Given the description of an element on the screen output the (x, y) to click on. 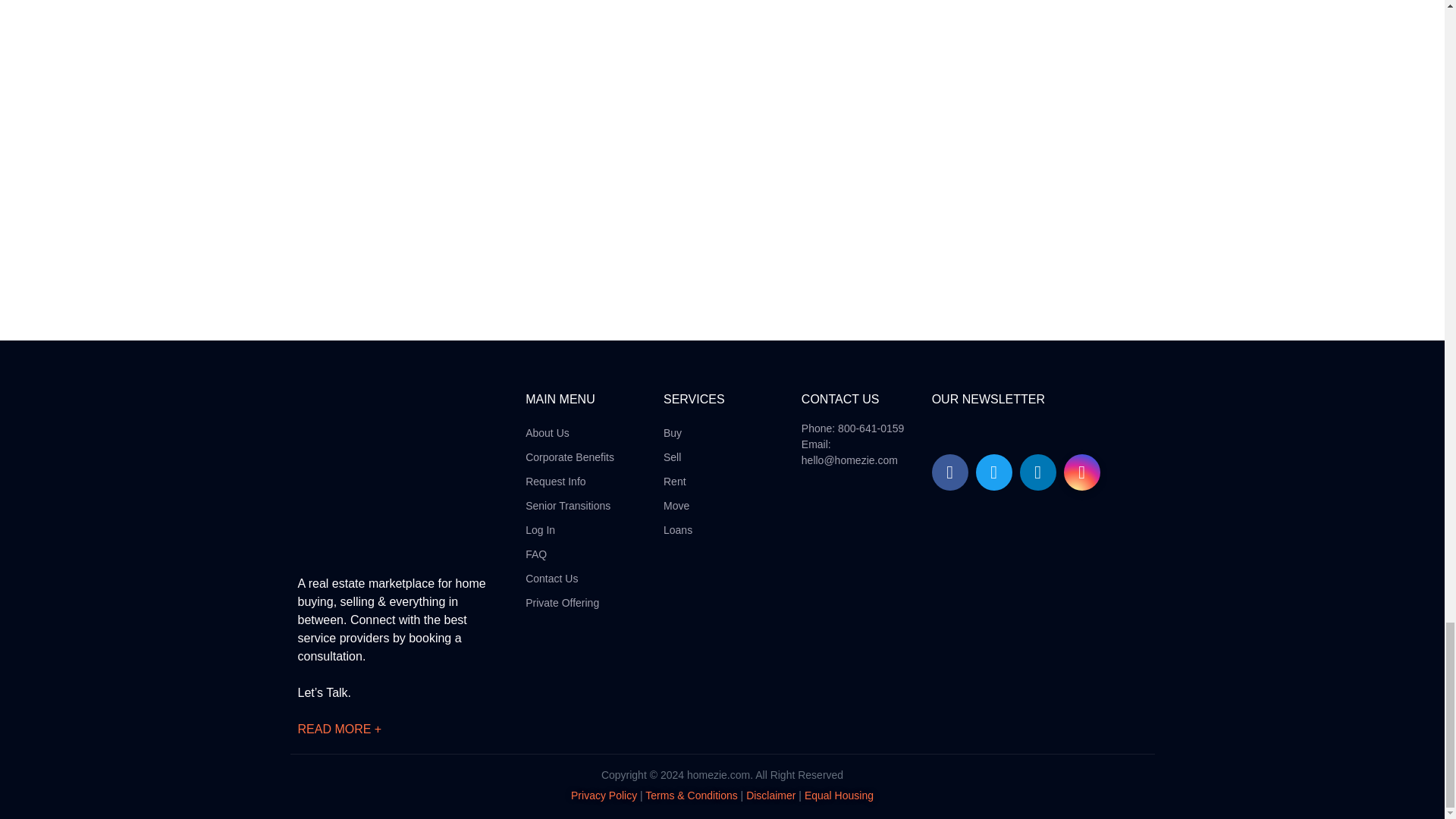
Corporate Benefits (569, 457)
Request Info (569, 481)
Log In (569, 529)
About Us (569, 432)
FAQ (569, 554)
Sell (678, 457)
Contact Us (569, 578)
Buy (678, 432)
Private Offering (569, 602)
Senior Transitions (569, 505)
